Given the description of an element on the screen output the (x, y) to click on. 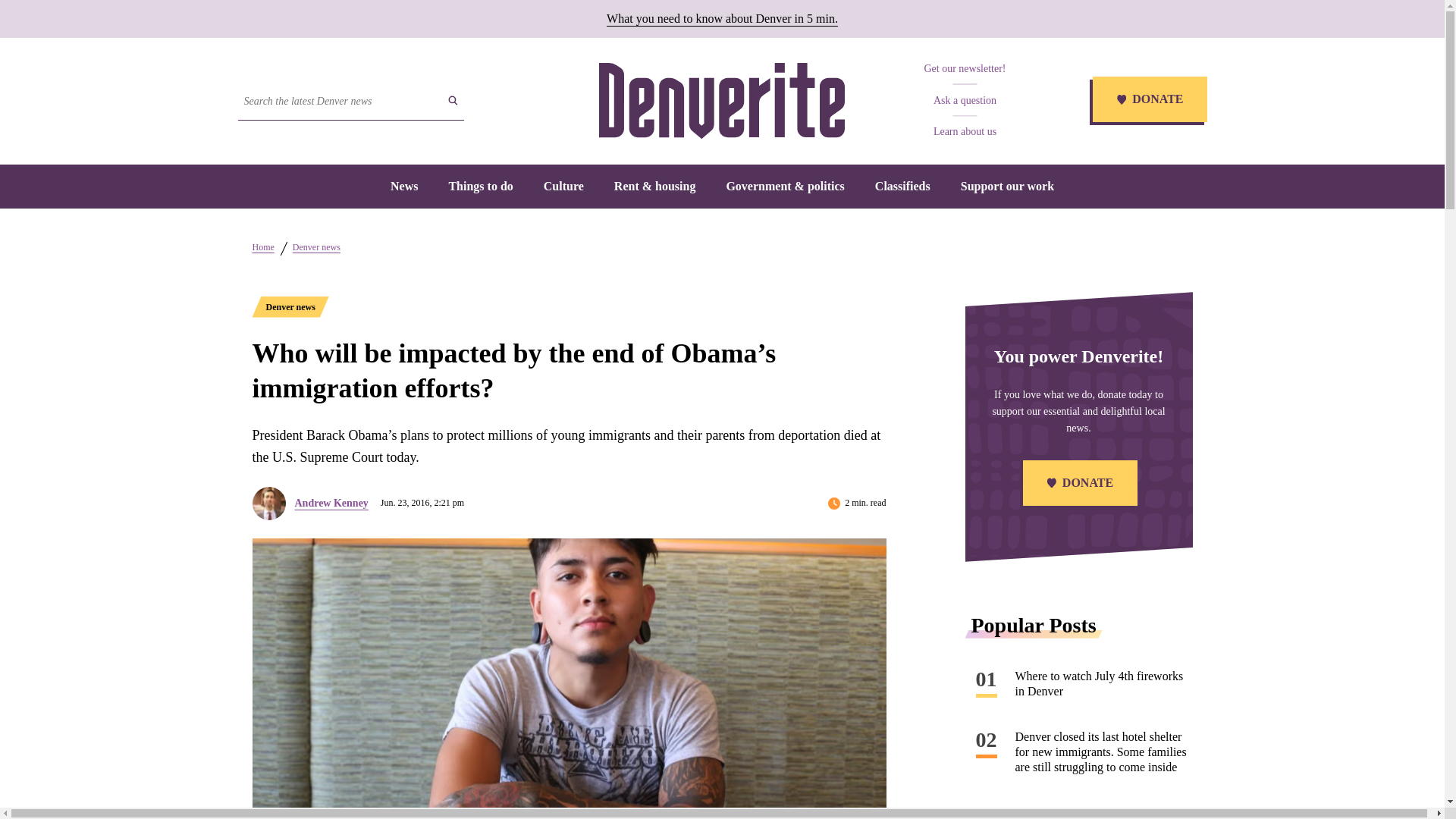
Learn about us (964, 131)
Denver news (316, 245)
Denver news (290, 305)
News (403, 185)
Support our work (1007, 185)
What you need to know about Denver in 5 min. (722, 18)
Ask a question (964, 99)
Get our newsletter! (964, 68)
Home (262, 245)
Culture (563, 185)
DONATE (1148, 100)
Denverite (721, 100)
Things to do (480, 185)
Classifieds (902, 185)
Andrew Kenney (331, 503)
